Given the description of an element on the screen output the (x, y) to click on. 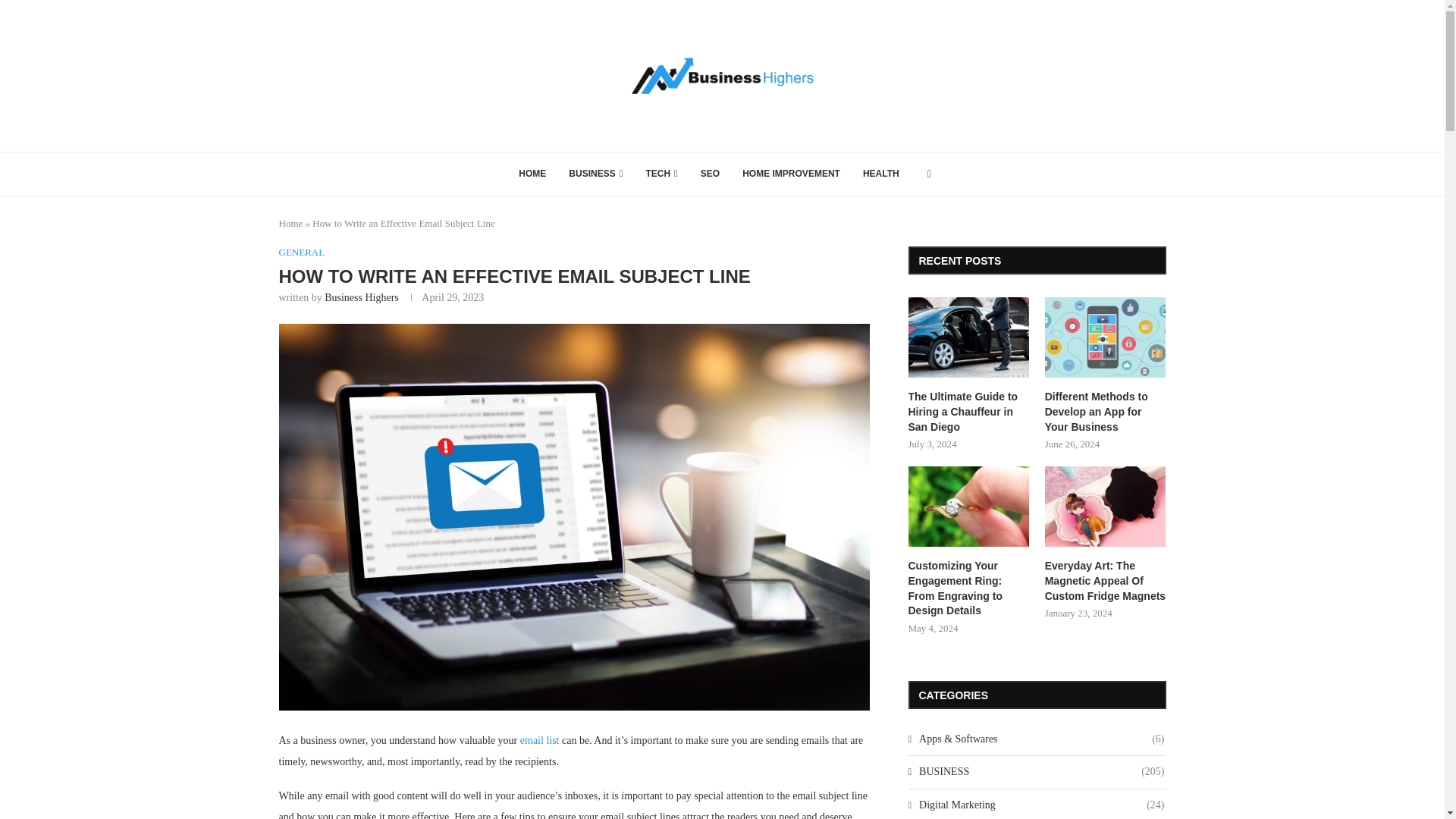
Home (290, 223)
HEALTH (881, 174)
GENERAL (301, 252)
BUSINESS (595, 174)
HOME IMPROVEMENT (790, 174)
HOME (531, 174)
email list (539, 739)
TECH (660, 174)
Business Highers (361, 297)
SEO (709, 174)
